Given the description of an element on the screen output the (x, y) to click on. 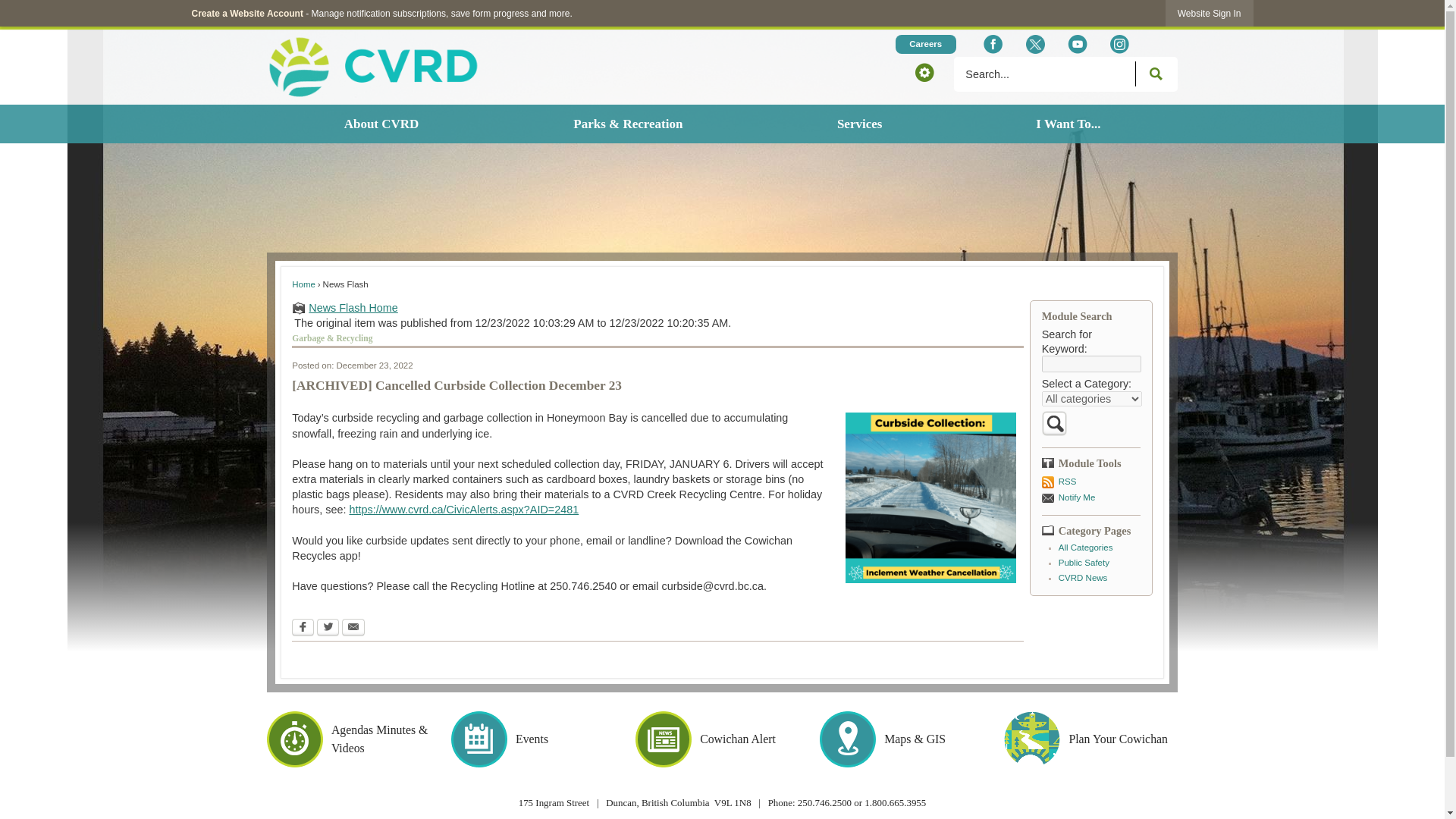
All Categories (1085, 547)
Share on Facebook (302, 626)
Plan Your Cowichan (1090, 739)
Skip to Main Content (5, 6)
Public Safety (1083, 562)
Website Sign In (1209, 13)
Share on Twitter (328, 626)
Careers (925, 44)
Search... (1065, 73)
RSS (1091, 481)
Create a Website Account (246, 13)
About CVRD (381, 123)
Share via Email (352, 626)
Services (859, 123)
Home (303, 284)
